Given the description of an element on the screen output the (x, y) to click on. 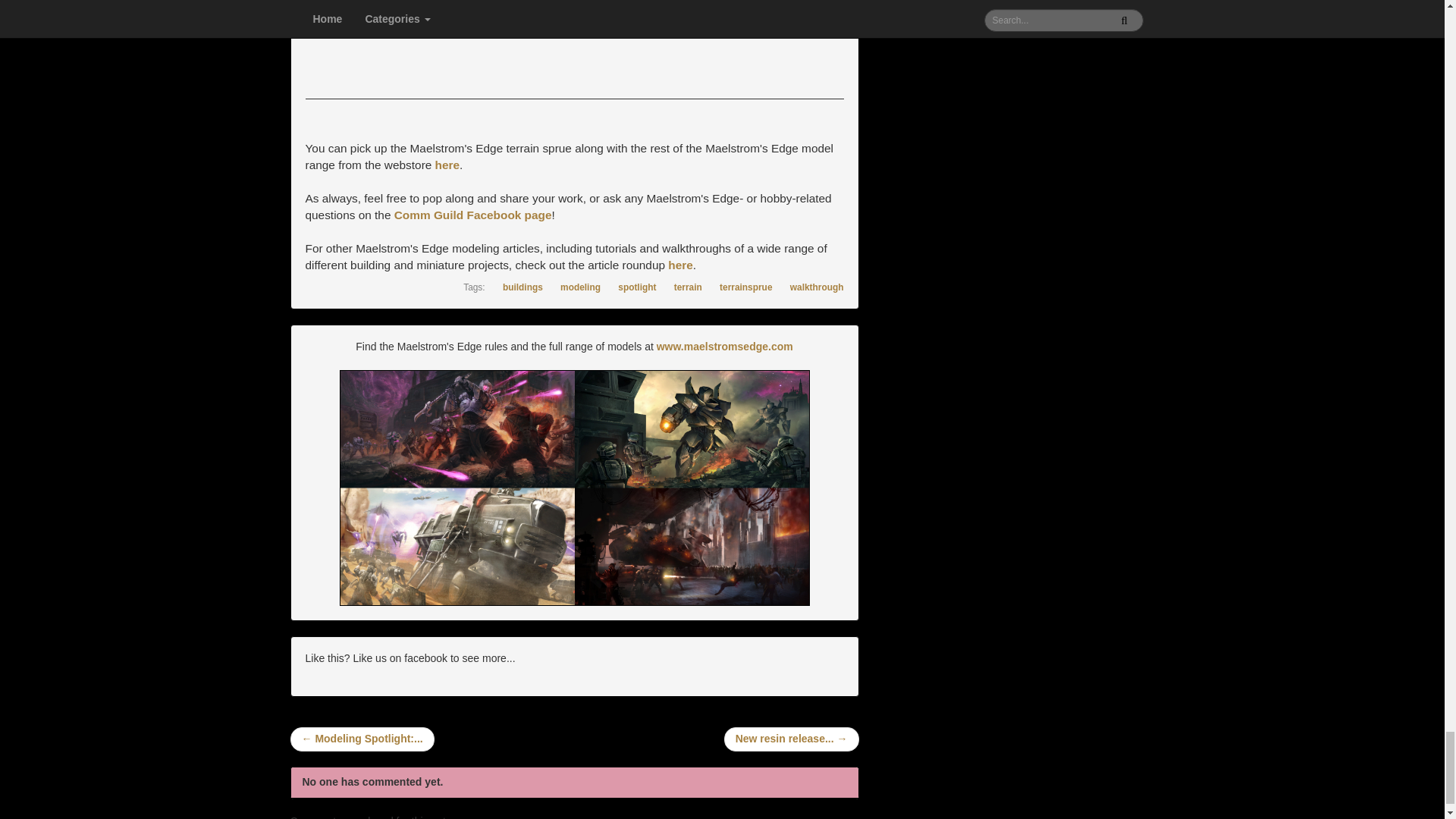
walkthrough (809, 287)
spotlight (629, 287)
www.maelstromsedge.com (724, 346)
terrain (680, 287)
terrainsprue (737, 287)
modeling (571, 287)
here (447, 164)
buildings (515, 287)
Comm Guild Facebook page (472, 214)
here (680, 264)
